Given the description of an element on the screen output the (x, y) to click on. 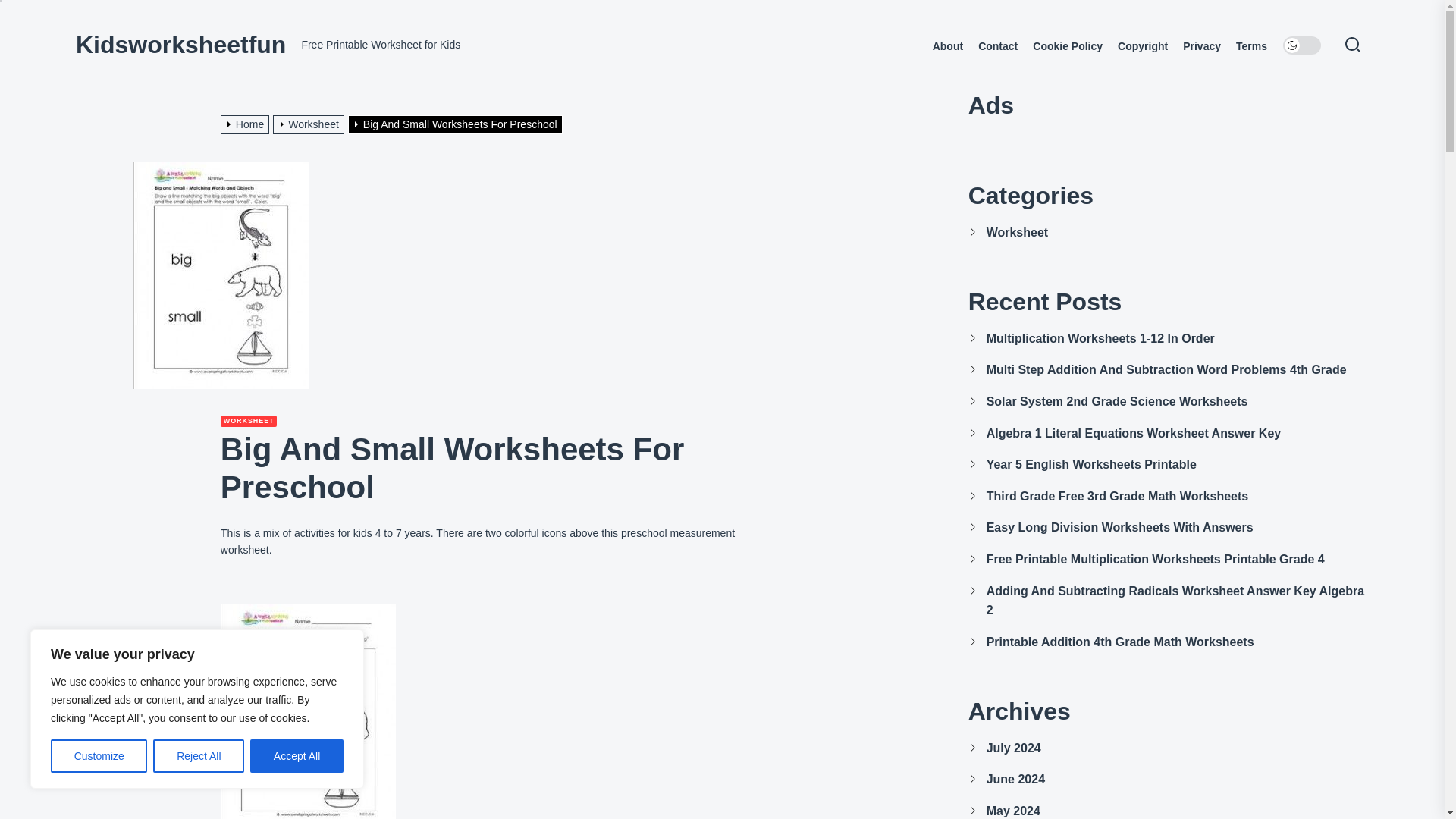
Reject All (198, 756)
Copyright (1142, 46)
Kidsworksheetfun (180, 44)
Home (247, 123)
Customize (98, 756)
Big And Small Worksheets For Preschool (456, 123)
Worksheet (310, 123)
Privacy (1201, 46)
Accept All (296, 756)
About (947, 46)
Terms (1251, 46)
Contact (997, 46)
WORKSHEET (249, 420)
Cookie Policy (1067, 46)
